Given the description of an element on the screen output the (x, y) to click on. 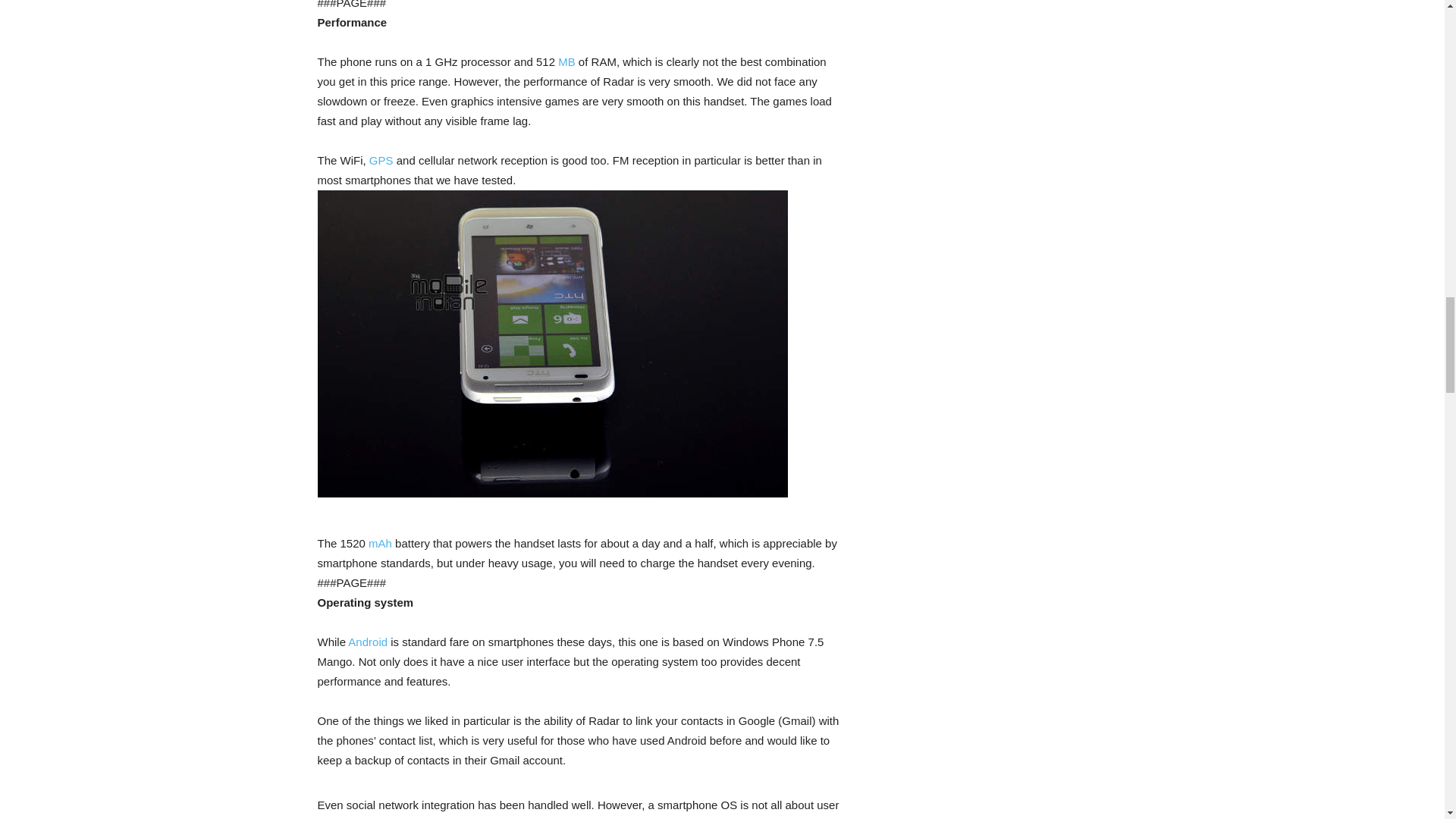
mAh (379, 543)
GPS (381, 160)
MB (566, 61)
